Given the description of an element on the screen output the (x, y) to click on. 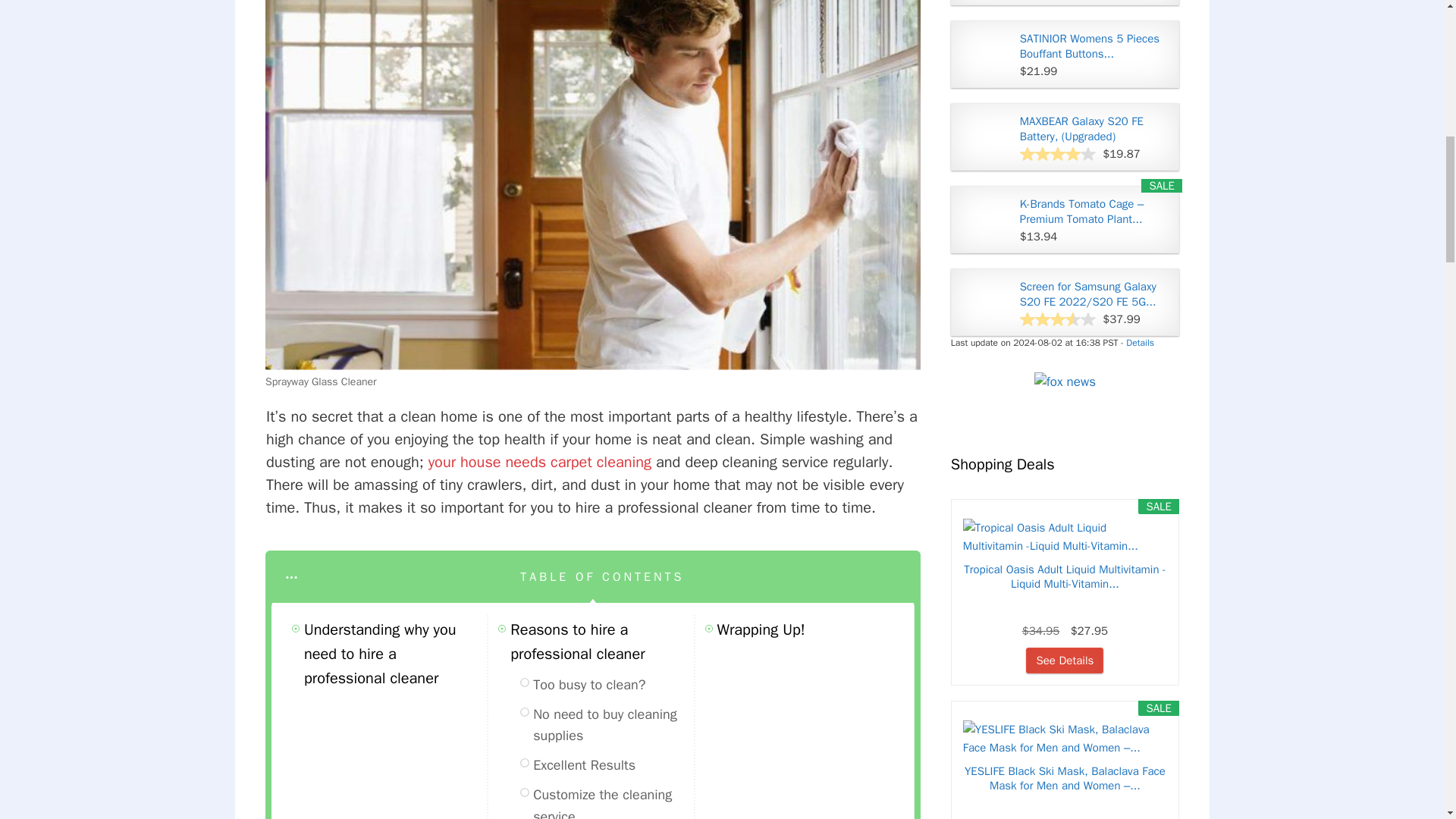
Wrapping Up! (761, 630)
Understanding why you need to hire a professional cleaner (392, 654)
Too busy to clean? (588, 685)
Reasons to hire a professional cleaner (599, 642)
Customize the cleaning service (609, 801)
Excellent Results (583, 765)
No need to buy cleaning supplies (609, 725)
